Given the description of an element on the screen output the (x, y) to click on. 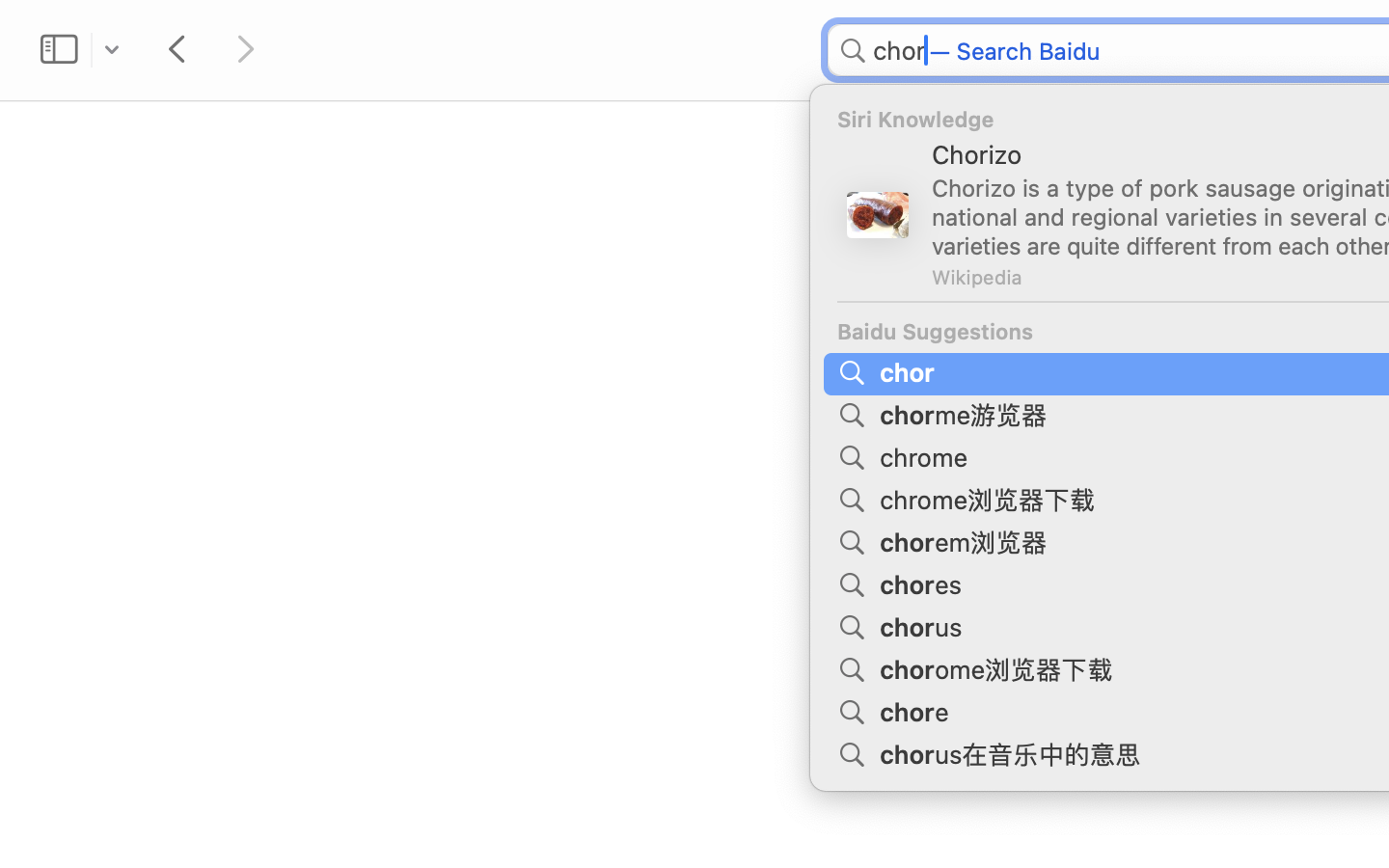
chorus Element type: AXStaticText (923, 624)
chrome Element type: AXStaticText (926, 454)
chorus在音乐中的意思 Element type: AXStaticText (1013, 751)
chore Element type: AXStaticText (916, 709)
chor Element type: AXStaticText (910, 369)
